Given the description of an element on the screen output the (x, y) to click on. 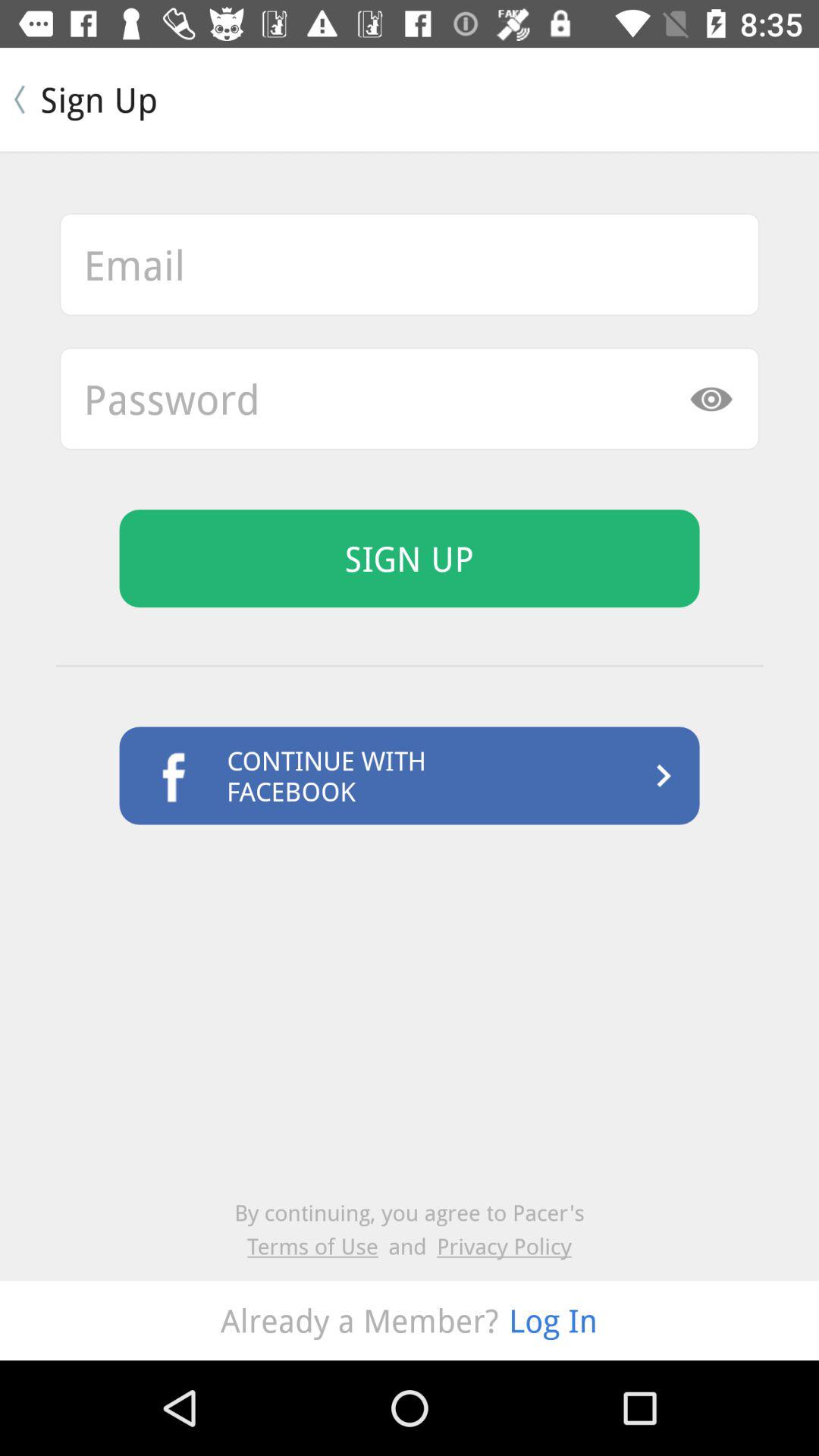
click the icon below by continuing you icon (317, 1245)
